Given the description of an element on the screen output the (x, y) to click on. 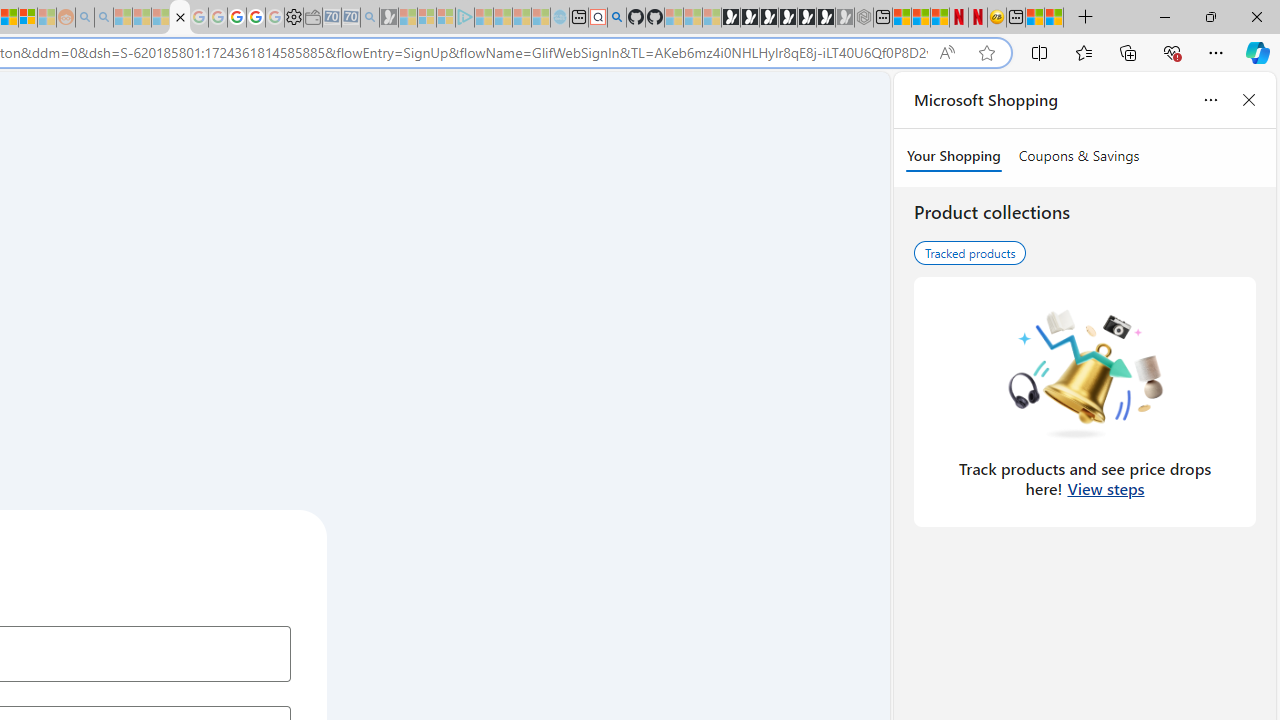
Cheap Car Rentals - Save70.com - Sleeping (350, 17)
Utah sues federal government - Search - Sleeping (103, 17)
